Given the description of an element on the screen output the (x, y) to click on. 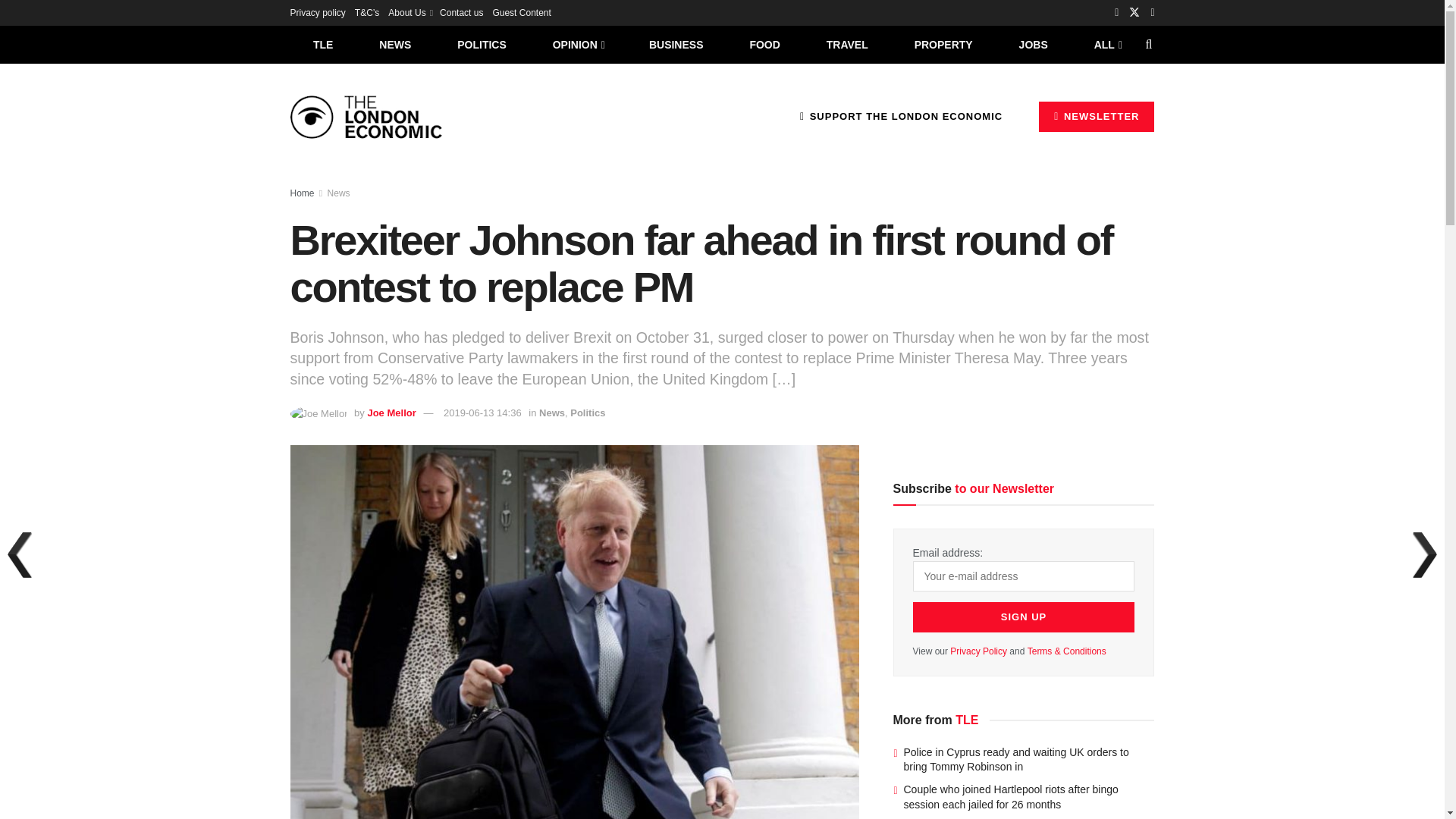
NEWSLETTER (1096, 116)
About Us (409, 12)
Contact us (461, 12)
Guest Content (521, 12)
SUPPORT THE LONDON ECONOMIC (900, 116)
JOBS (1032, 44)
BUSINESS (676, 44)
OPINION (577, 44)
Sign up (1023, 616)
TRAVEL (847, 44)
